Given the description of an element on the screen output the (x, y) to click on. 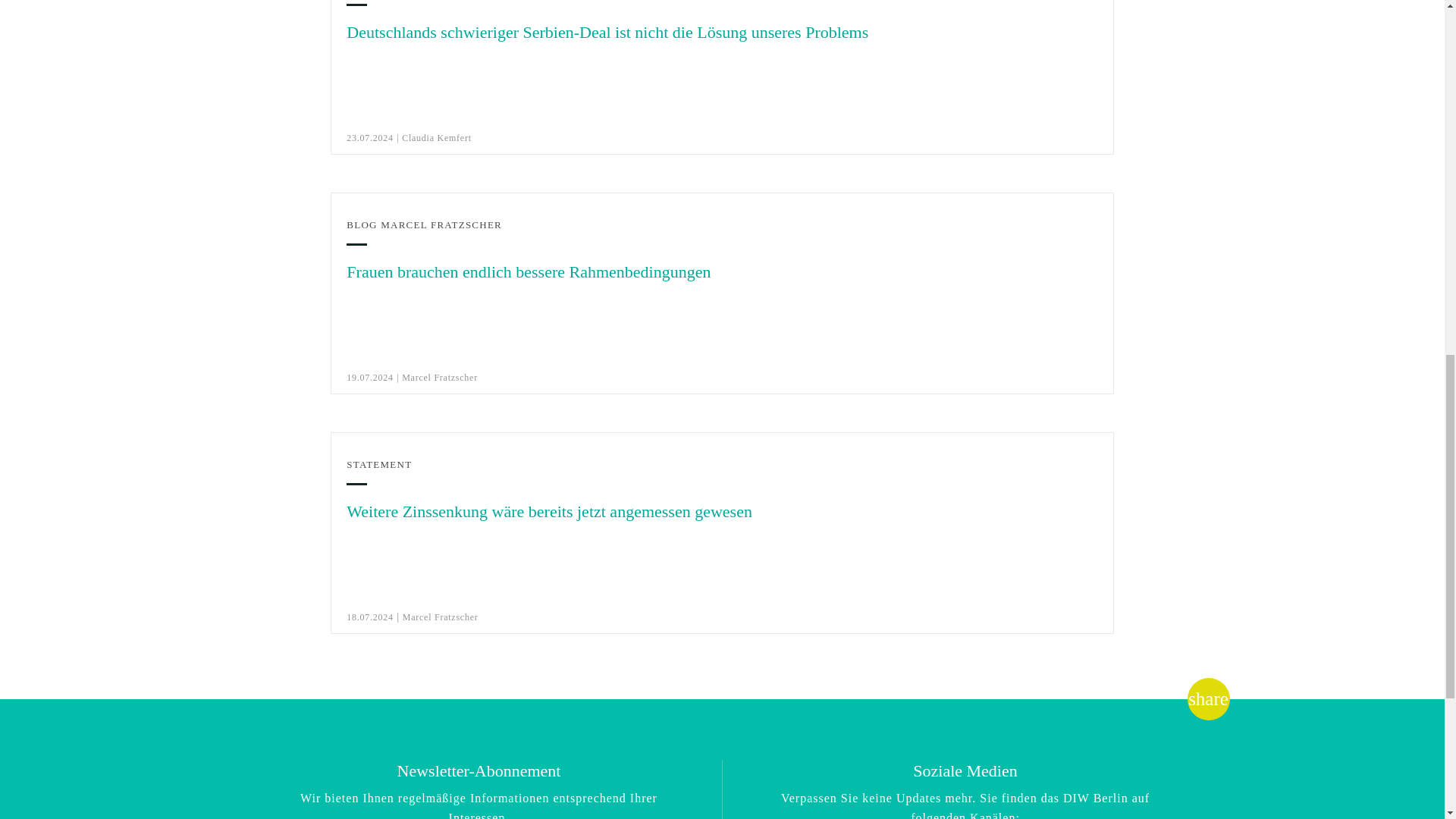
Teilen (1208, 699)
